Given the description of an element on the screen output the (x, y) to click on. 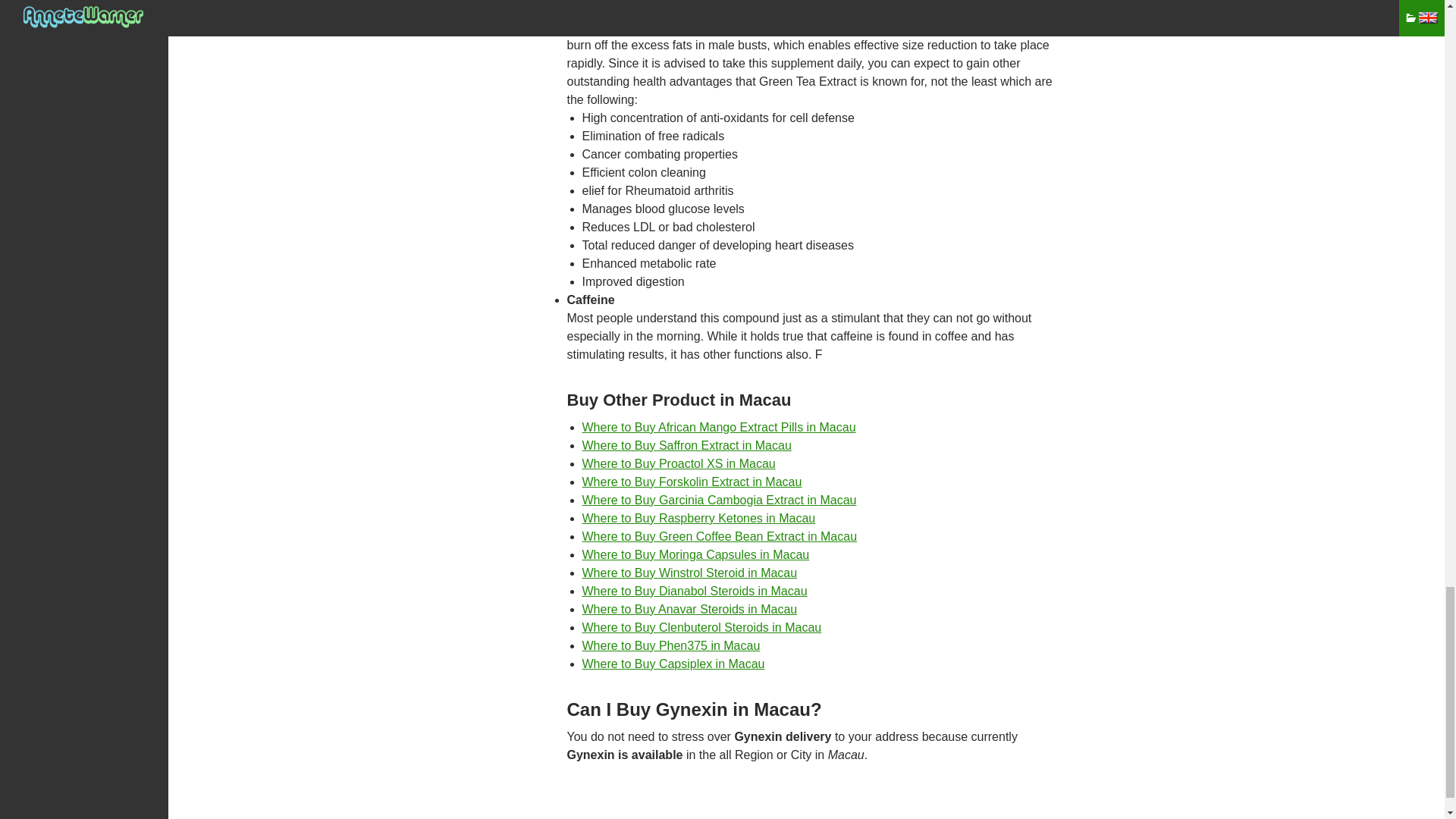
Where to Buy Anavar Steroids in Macau (689, 608)
Where to Purchase green-coffee-bean-extract online Macau (719, 535)
Where to Buy Capsiplex in Macau (673, 663)
Where to Buy Phen375 in Macau (671, 645)
Where to Buy Garcinia Cambogia Extract in Macau (719, 499)
Where to Purchase proactol online Macau (679, 463)
Where to Buy Saffron Extract in Macau (687, 445)
Where to Buy Proactol XS in Macau (679, 463)
Where to Buy Raspberry Ketones in Macau (698, 517)
Where to Buy Moringa Capsules in Macau (695, 554)
Where to Purchase garcinia-cambogia-extract online Macau (719, 499)
Where to Purchase saffron-extract online Macau (687, 445)
Where to Purchase forskolin online Macau (692, 481)
Where to Buy Forskolin Extract in Macau (692, 481)
Where to Purchase clenbuterol-steroids online Macau (702, 626)
